Given the description of an element on the screen output the (x, y) to click on. 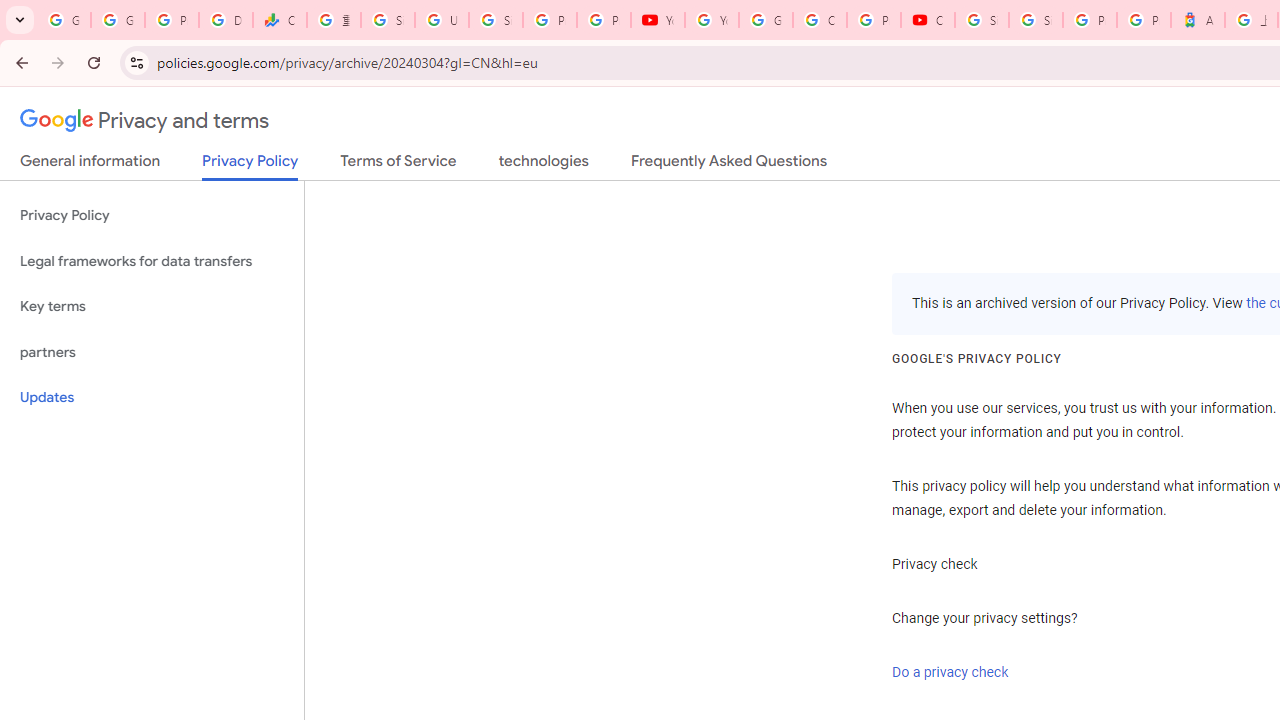
Privacy and terms (145, 121)
partners (152, 352)
Privacy Checkup (604, 20)
Currencies - Google Finance (280, 20)
Legal frameworks for data transfers (152, 261)
Google Account Help (765, 20)
Sign in - Google Accounts (1035, 20)
Sign in - Google Accounts (495, 20)
